Given the description of an element on the screen output the (x, y) to click on. 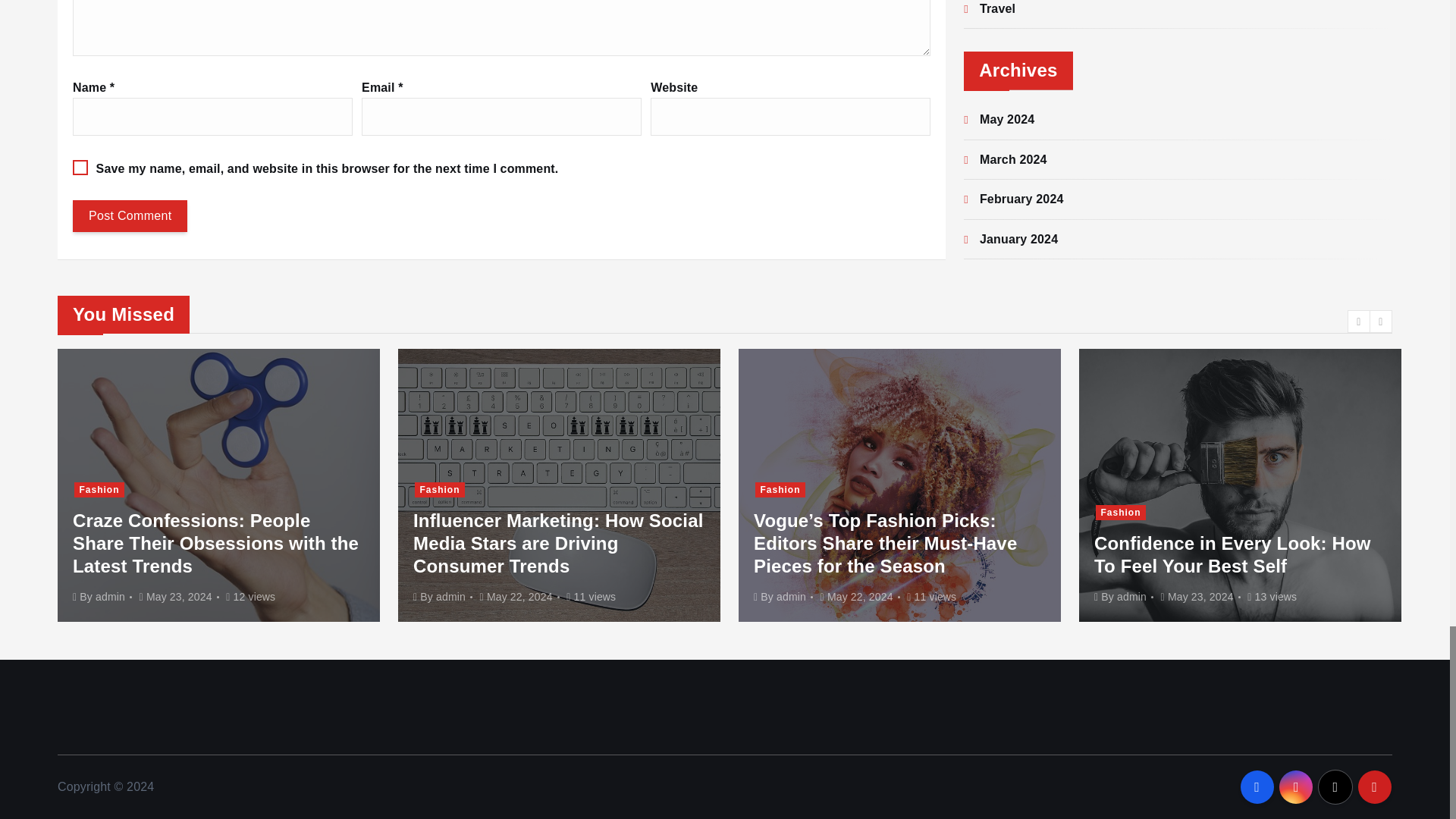
yes (79, 167)
Post Comment (129, 215)
